Given the description of an element on the screen output the (x, y) to click on. 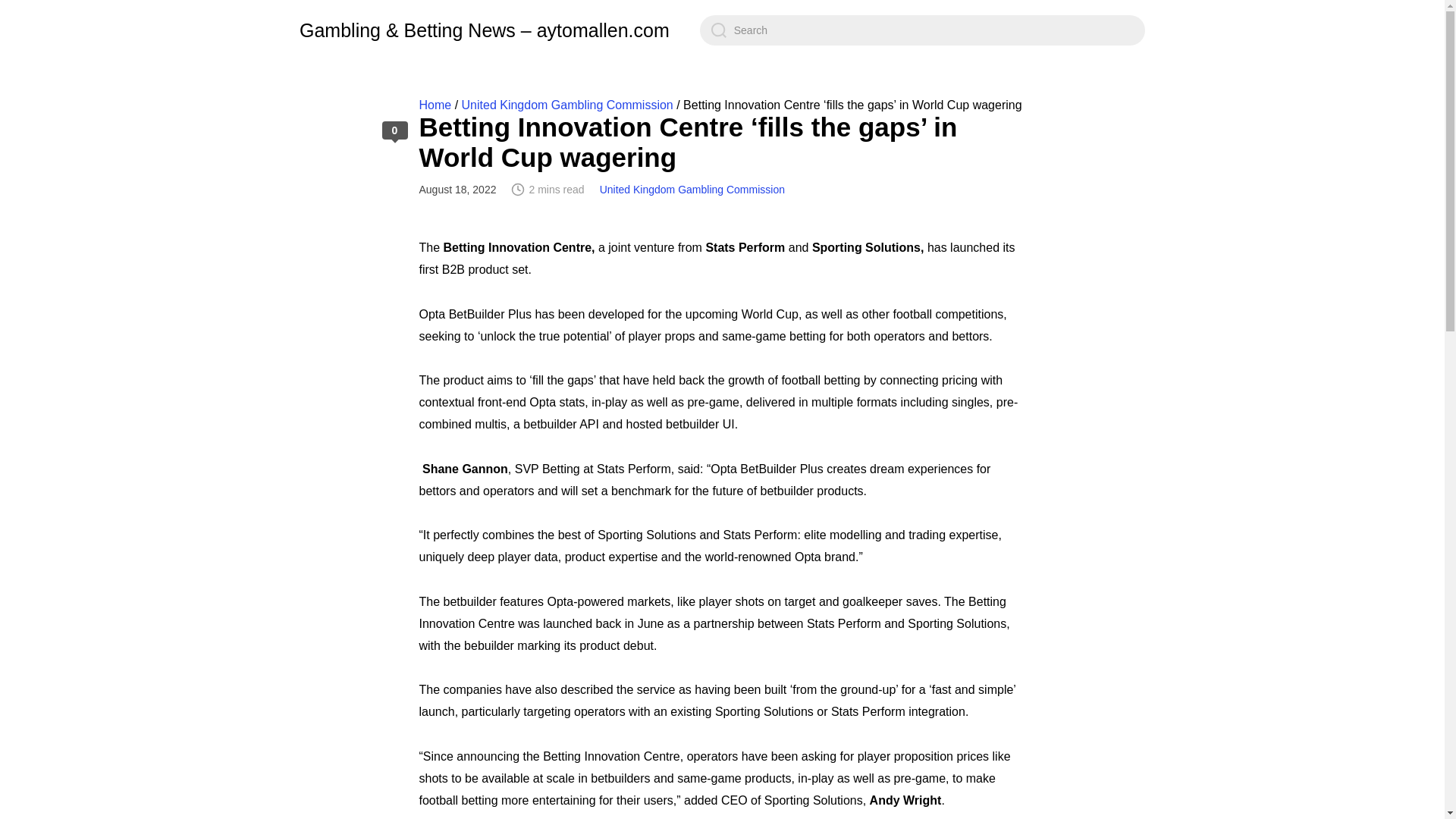
United Kingdom Gambling Commission (691, 189)
0 (394, 130)
Home (435, 104)
United Kingdom Gambling Commission (566, 104)
